Given the description of an element on the screen output the (x, y) to click on. 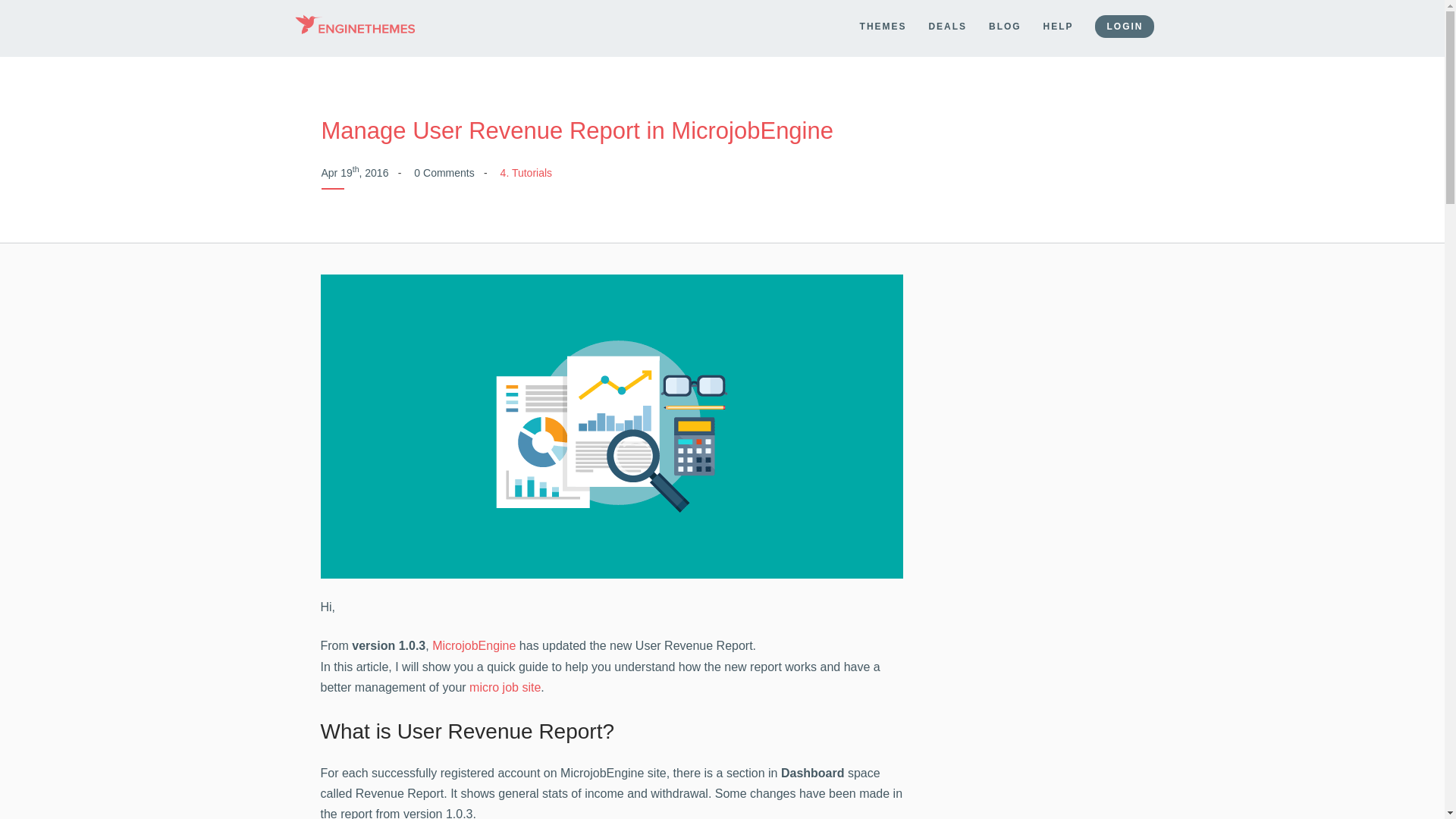
Help Portal (1058, 26)
4. Tutorials (525, 173)
Special Package Plans (947, 26)
Manage User Revenue Report in MicrojobEngine (576, 130)
HELP (1058, 26)
View all posts in 4. Tutorials (525, 173)
0 Comments (443, 173)
micro job site (504, 686)
THEMES (883, 26)
DEALS (947, 26)
MicrojobEngine (473, 645)
LOGIN (1124, 26)
BLOG (1005, 26)
View Themes Gallery (883, 26)
